Given the description of an element on the screen output the (x, y) to click on. 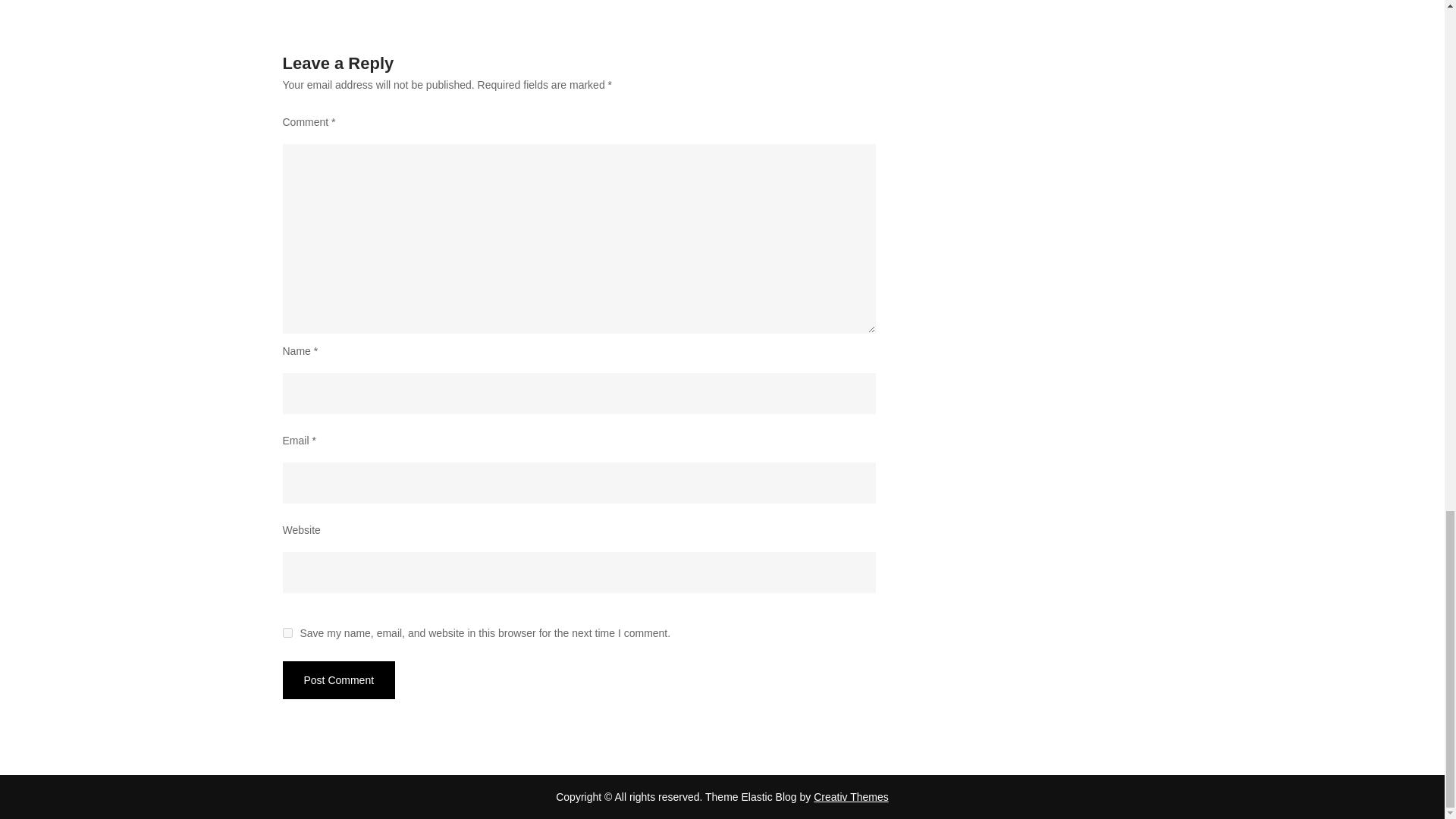
yes (287, 633)
Post Comment (338, 679)
Post Comment (338, 679)
